Given the description of an element on the screen output the (x, y) to click on. 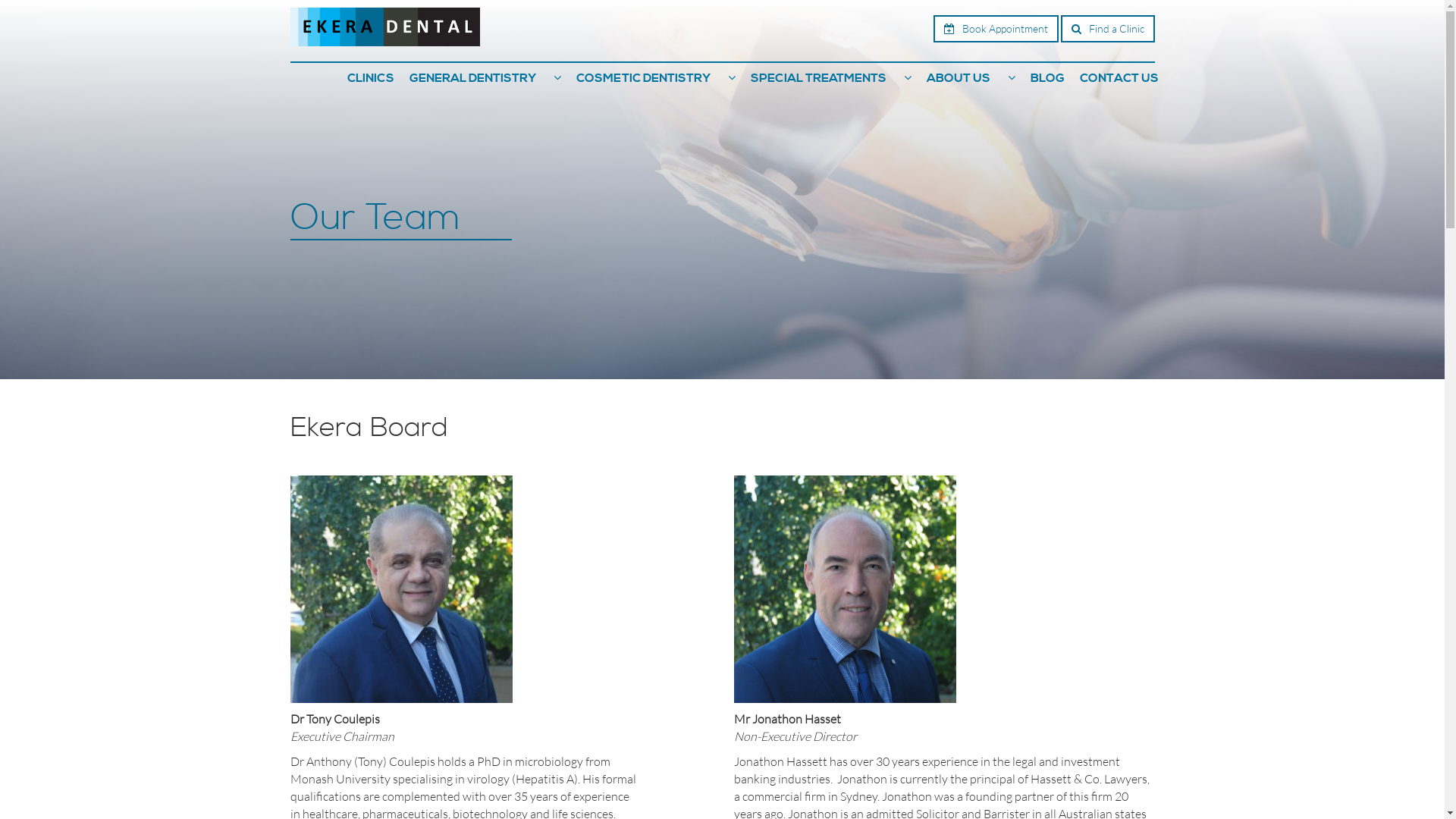
GENERAL DENTISTRY Element type: text (472, 77)
CLINICS Element type: text (370, 77)
ABOUT US Element type: text (958, 77)
BLOG Element type: text (1046, 77)
SPECIAL TREATMENTS Element type: text (818, 77)
CONTACT US Element type: text (1119, 77)
Find a Clinic Element type: text (1107, 28)
Home Element type: hover (384, 25)
COSMETIC DENTISTRY Element type: text (643, 77)
Book Appointment Element type: text (994, 28)
